Given the description of an element on the screen output the (x, y) to click on. 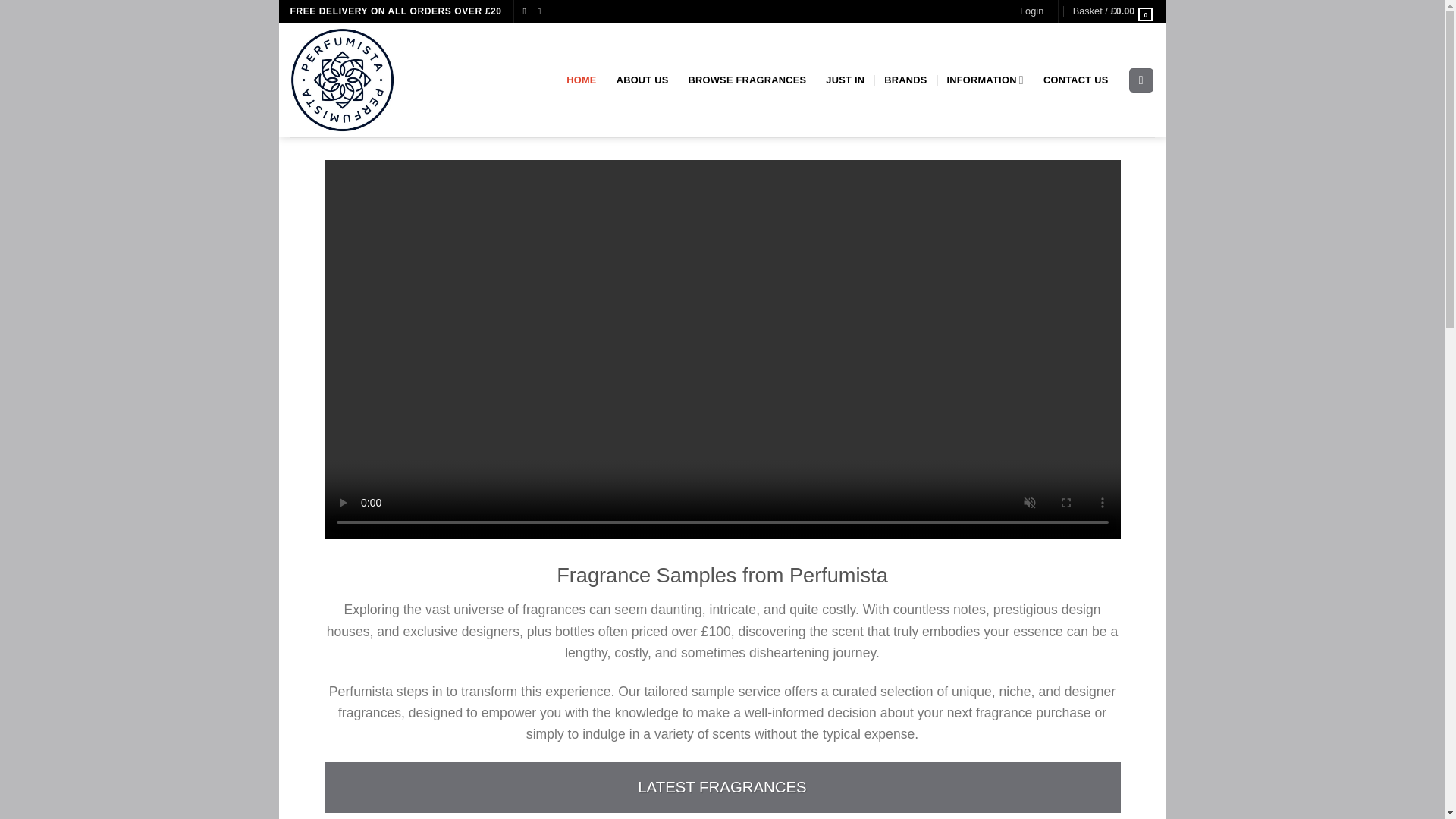
BROWSE FRAGRANCES (747, 80)
HOME (580, 80)
JUST IN (844, 80)
ABOUT US (641, 80)
